Given the description of an element on the screen output the (x, y) to click on. 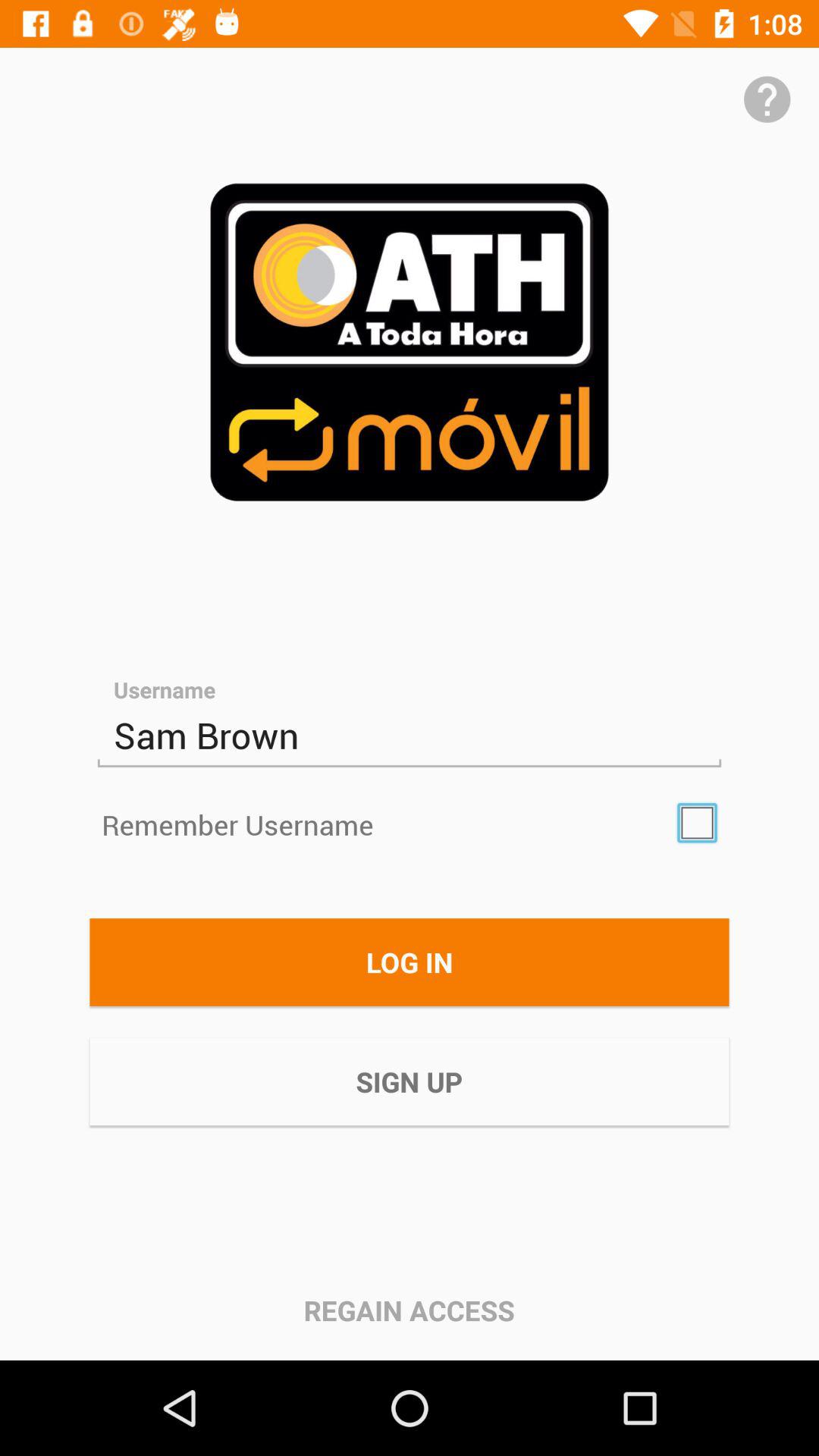
press sam brown item (409, 735)
